Given the description of an element on the screen output the (x, y) to click on. 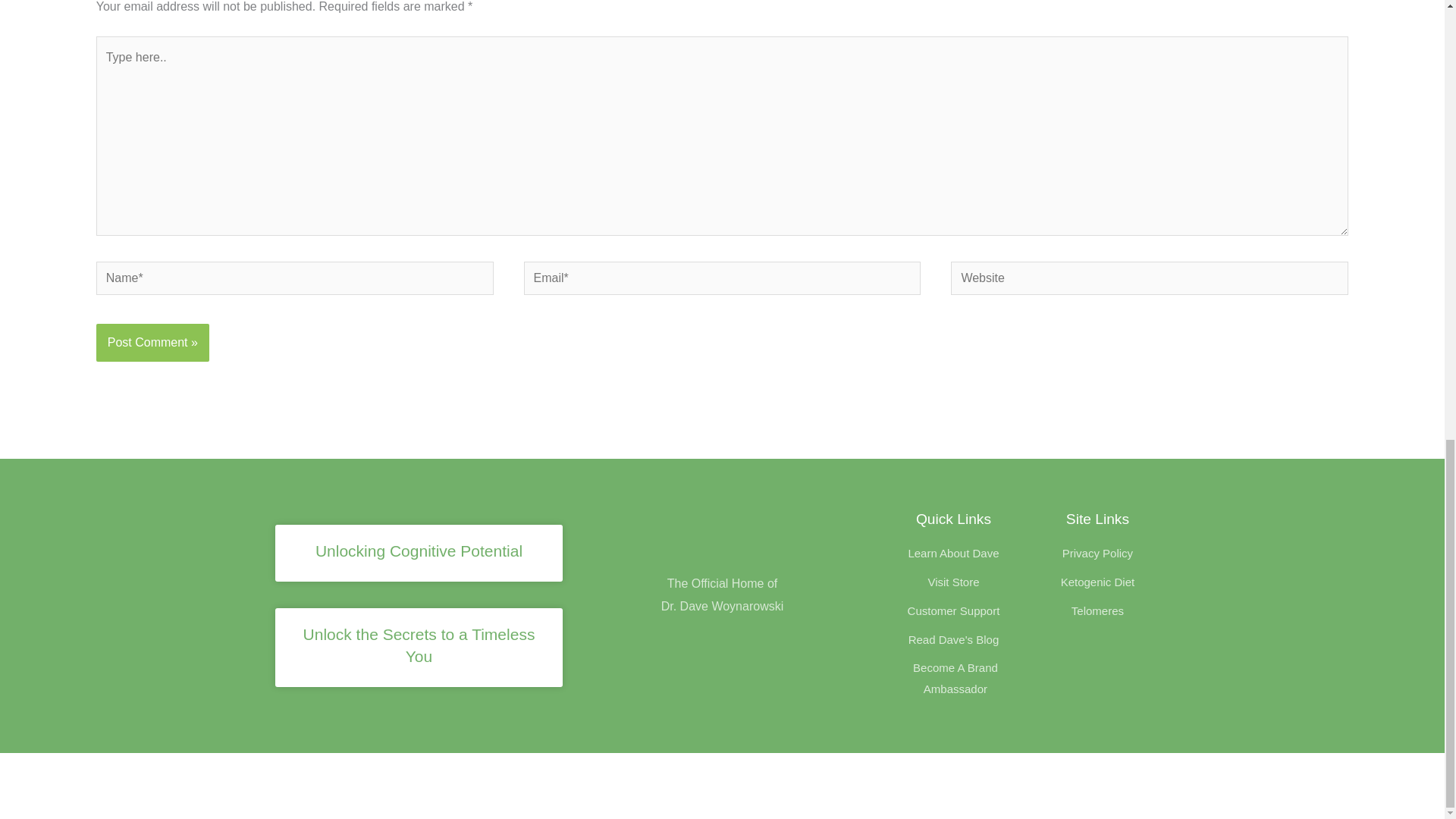
Read Dave'S Blog (952, 639)
Privacy Policy (1096, 553)
Unlock the Secrets to a Timeless You (418, 645)
Telomeres (1096, 610)
Become A Brand Ambassador (952, 678)
Learn About Dave (952, 553)
Customer Support (952, 610)
Ketogenic Diet (1096, 581)
Visit Store (952, 581)
Unlocking Cognitive Potential (418, 550)
